Given the description of an element on the screen output the (x, y) to click on. 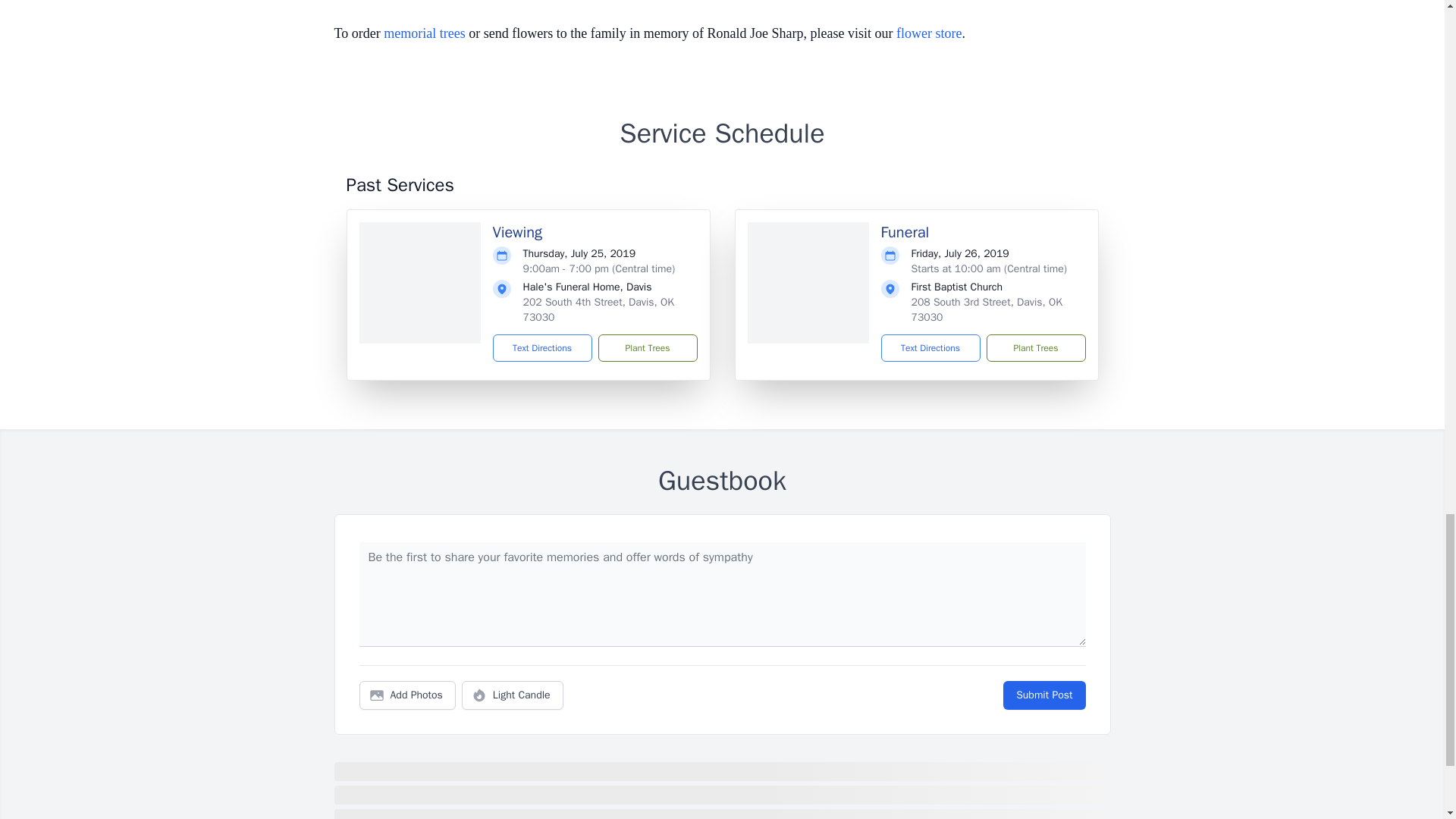
Plant Trees (646, 347)
Light Candle (512, 695)
208 South 3rd Street, Davis, OK 73030 (986, 309)
flower store (928, 32)
Submit Post (1043, 695)
202 South 4th Street, Davis, OK 73030 (598, 309)
Text Directions (929, 347)
Text Directions (542, 347)
Add Photos (407, 695)
memorial trees (424, 32)
